Given the description of an element on the screen output the (x, y) to click on. 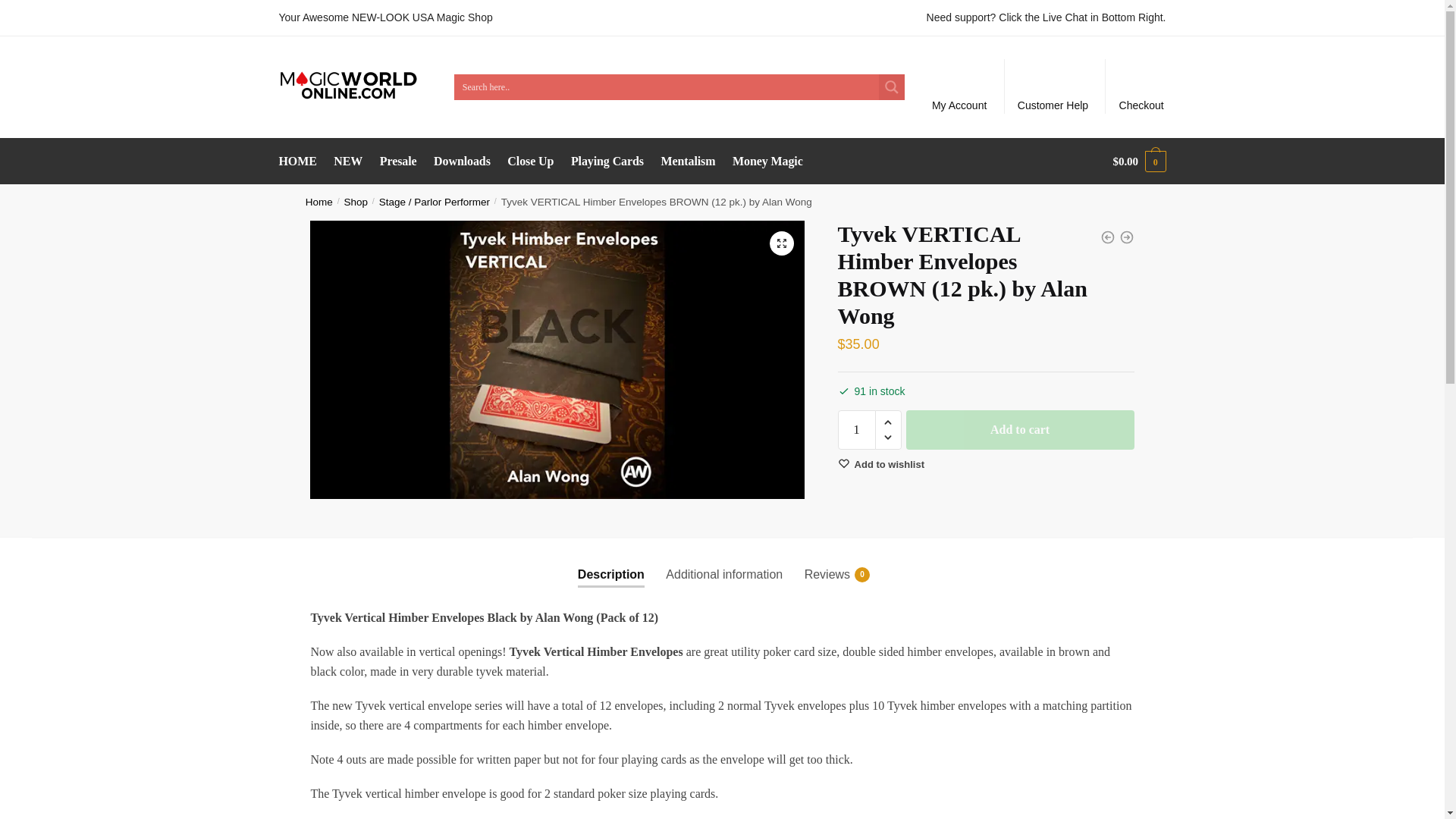
Home (319, 202)
Playing Cards (607, 161)
Checkout (1141, 86)
Description (611, 562)
My Account (959, 86)
Downloads (461, 161)
Add to wishlist (881, 464)
Customer Help (1053, 86)
Close Up (530, 161)
NEW (348, 161)
Add to cart (1019, 429)
1 (857, 429)
Presale (397, 161)
